Given the description of an element on the screen output the (x, y) to click on. 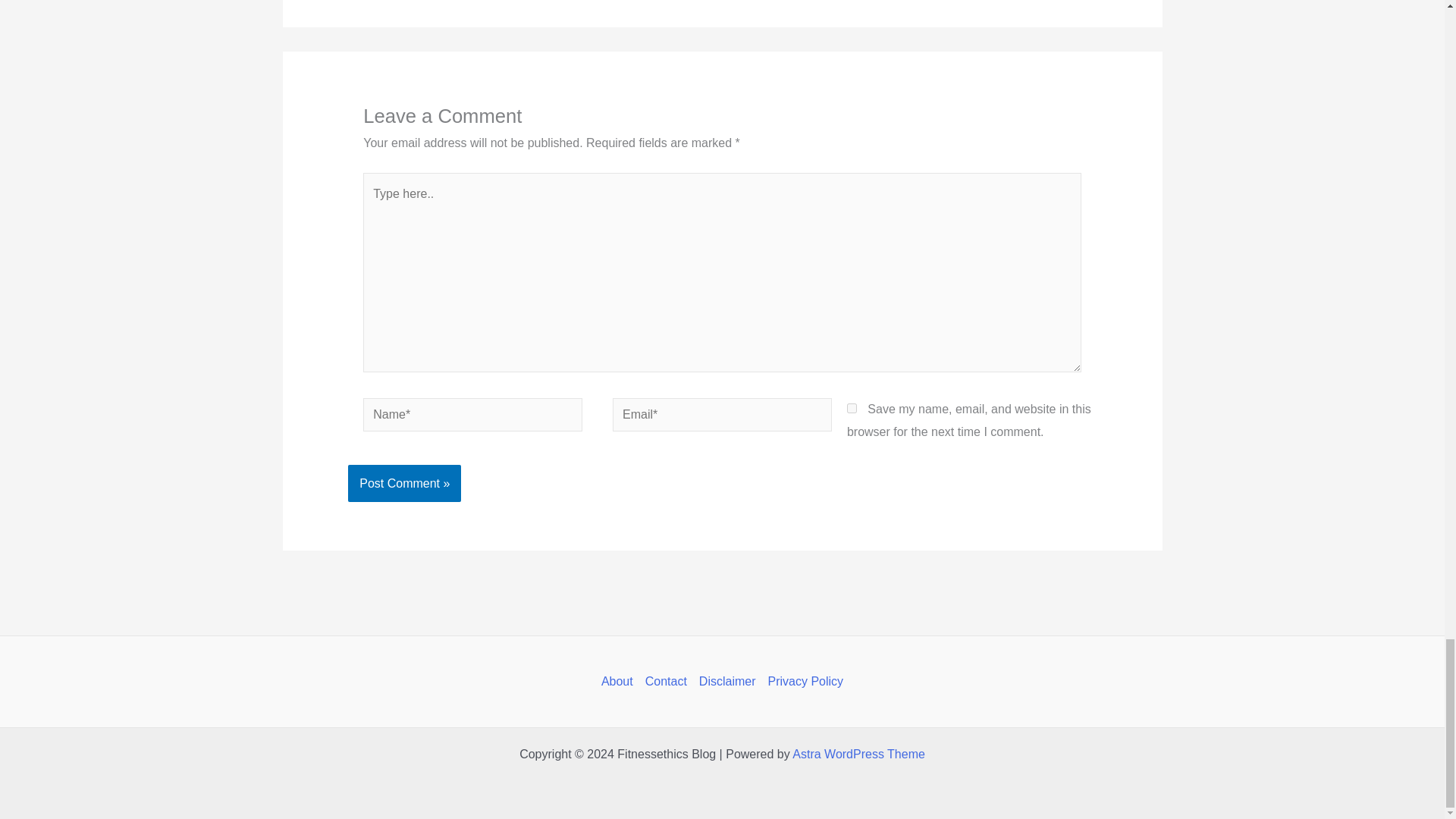
yes (852, 408)
